Given the description of an element on the screen output the (x, y) to click on. 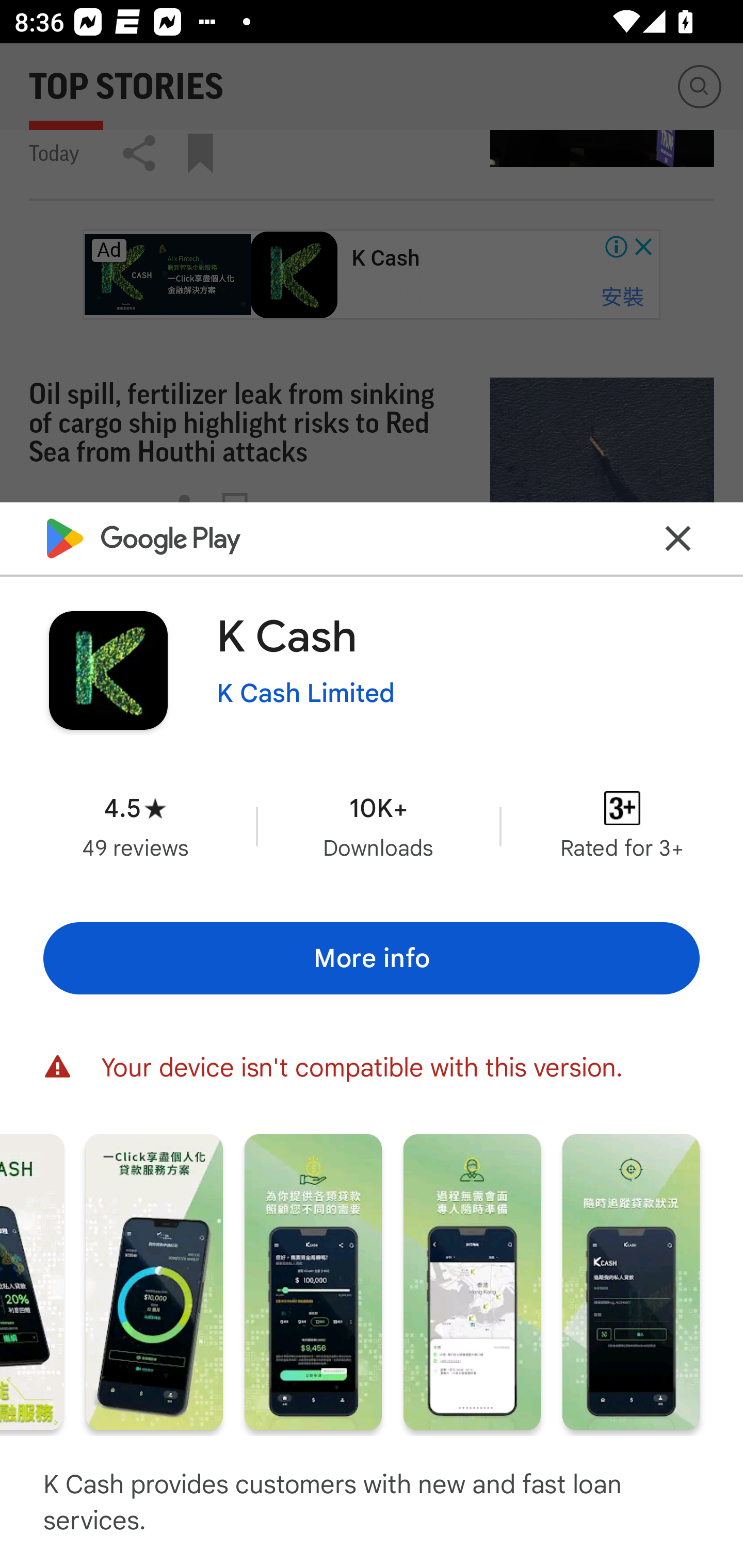
Close (677, 537)
Image of app or game icon for K Cash (108, 670)
K Cash Limited (305, 693)
More info (371, 957)
Screenshot "2" of "5" (153, 1281)
Screenshot "3" of "5" (312, 1281)
Screenshot "4" of "5" (471, 1281)
Screenshot "5" of "5" (630, 1281)
